Given the description of an element on the screen output the (x, y) to click on. 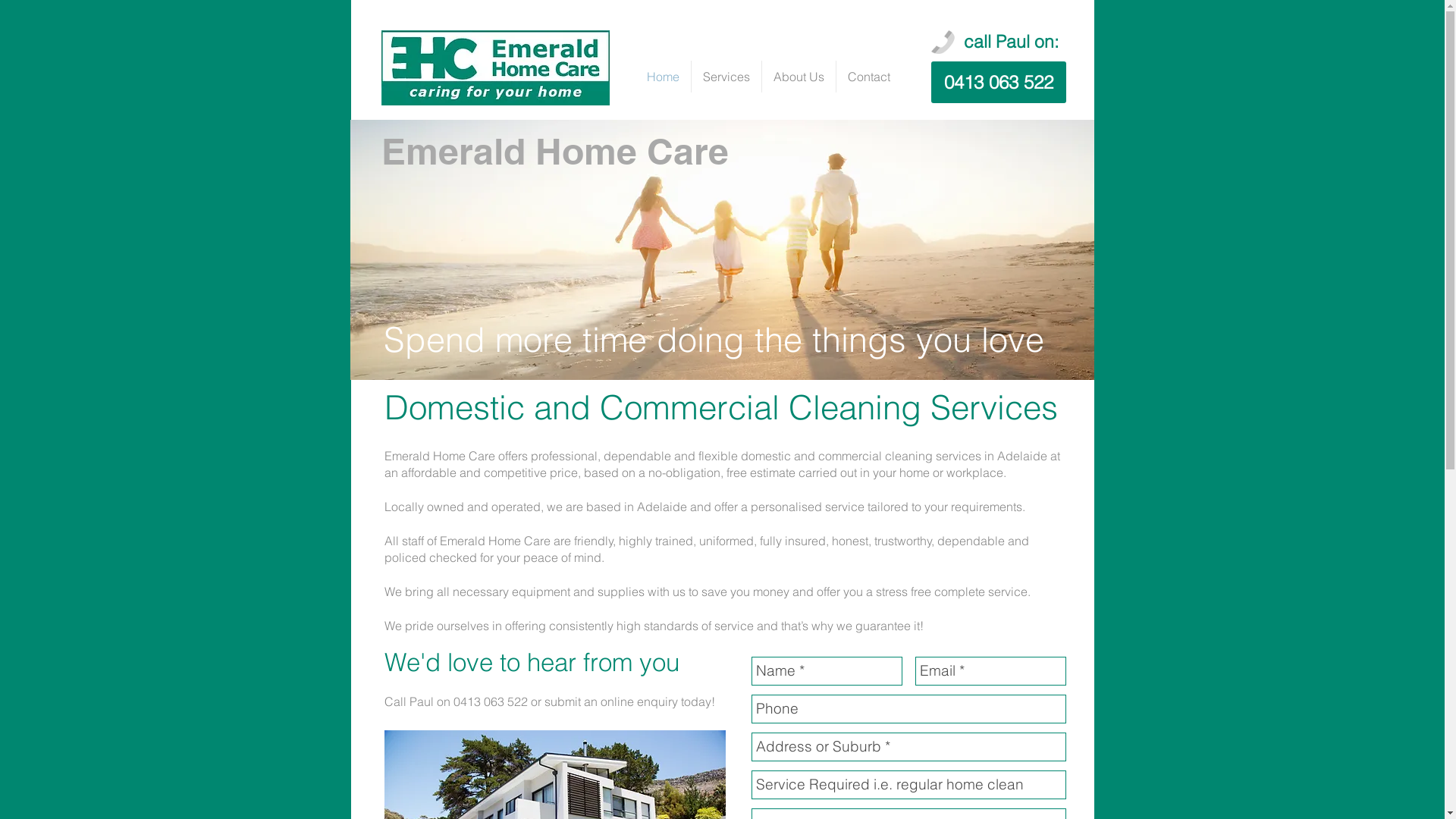
Services Element type: text (726, 76)
Contact Element type: text (867, 76)
Home Element type: text (662, 76)
0413 063 522 Element type: text (998, 82)
About Us Element type: text (797, 76)
